Given the description of an element on the screen output the (x, y) to click on. 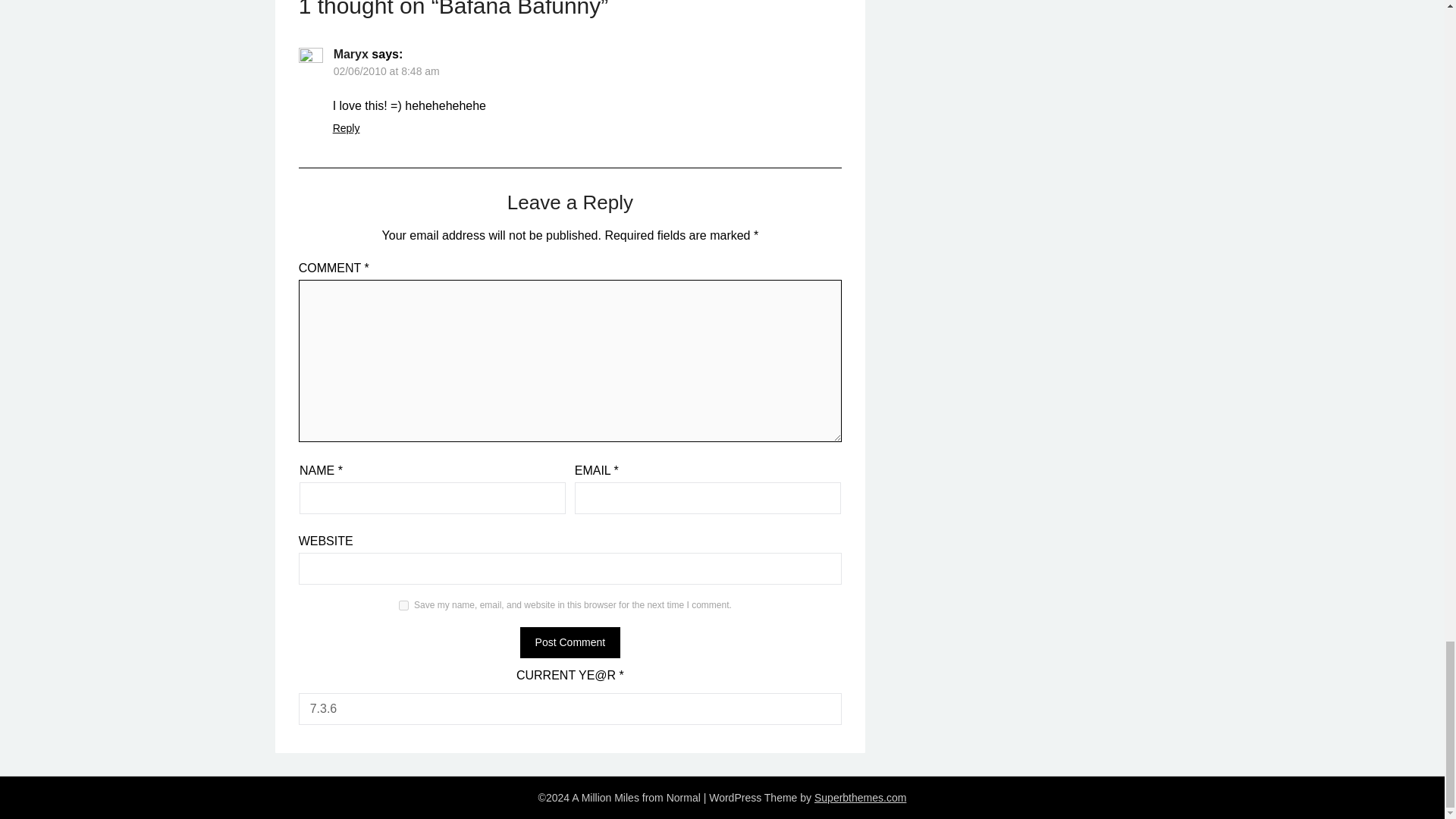
Maryx (350, 53)
Reply (346, 128)
Superbthemes.com (859, 797)
yes (403, 605)
7.3.6 (570, 708)
Post Comment (570, 642)
Post Comment (570, 642)
